Given the description of an element on the screen output the (x, y) to click on. 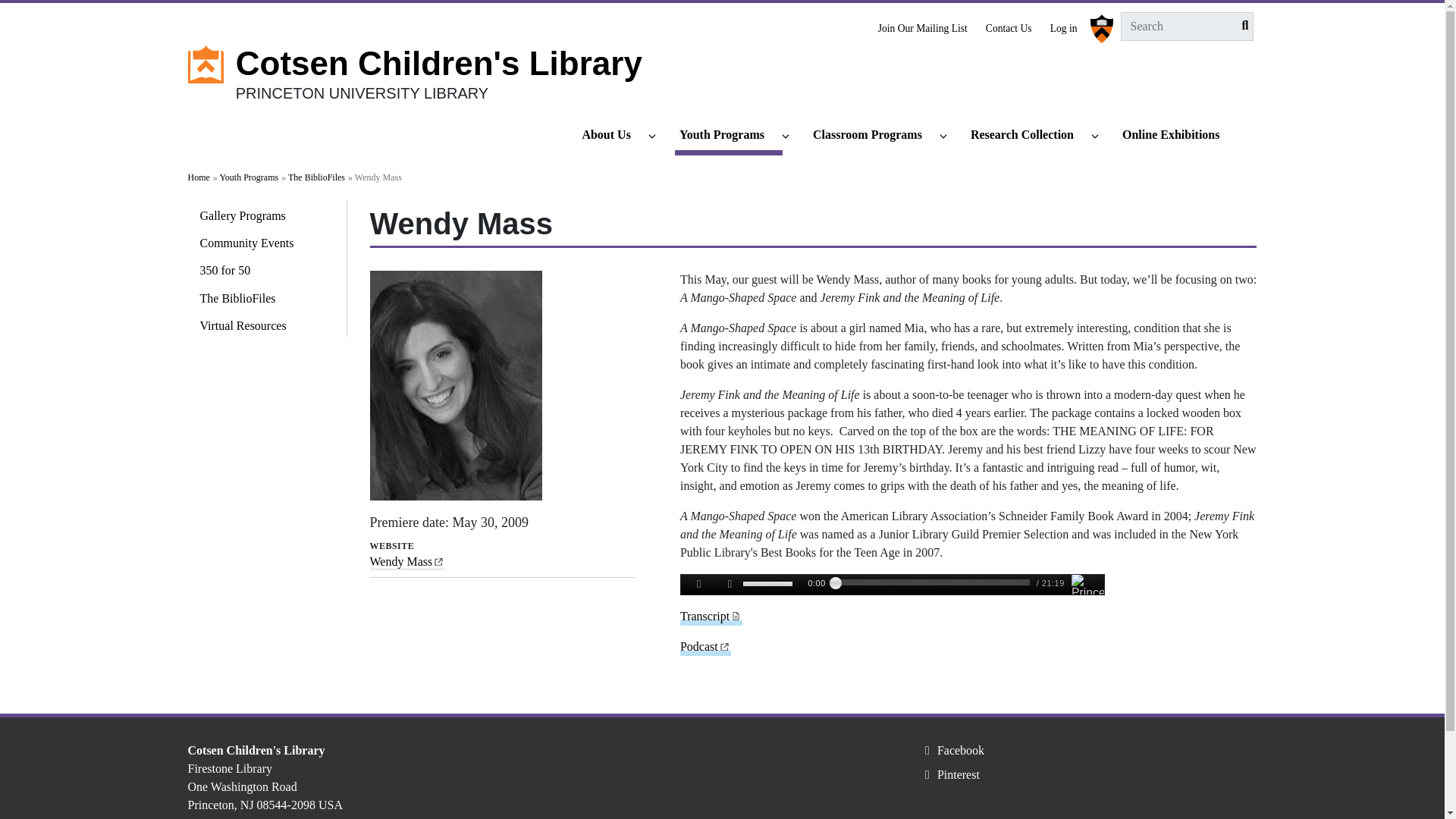
Contact Us (1008, 25)
Research Collection (1029, 136)
Home (438, 63)
Link is external (724, 644)
Link is external (437, 560)
Pinterest (949, 774)
Classroom Programs (874, 136)
Link downloads document (735, 614)
Submit (1240, 25)
Facebook (952, 749)
Online Exhibitions (1178, 136)
About Us (611, 136)
Cotsen Children's Library (438, 63)
Kaltura Player (892, 584)
Join Our Mailing List (922, 25)
